Given the description of an element on the screen output the (x, y) to click on. 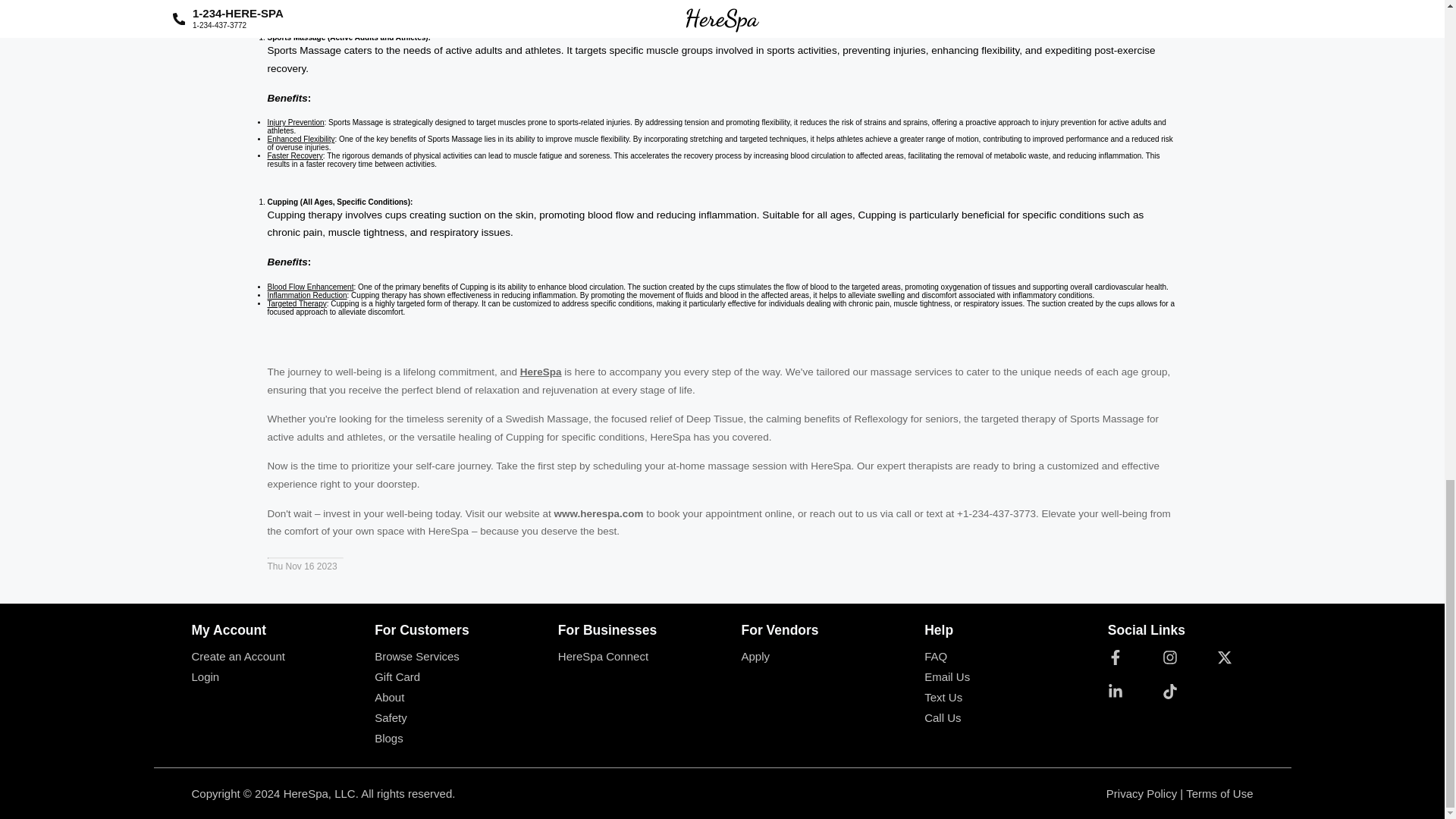
www.herespa.com (598, 513)
HereSpa (540, 371)
Privacy Policy (1141, 793)
Terms of Use (1219, 793)
